Given the description of an element on the screen output the (x, y) to click on. 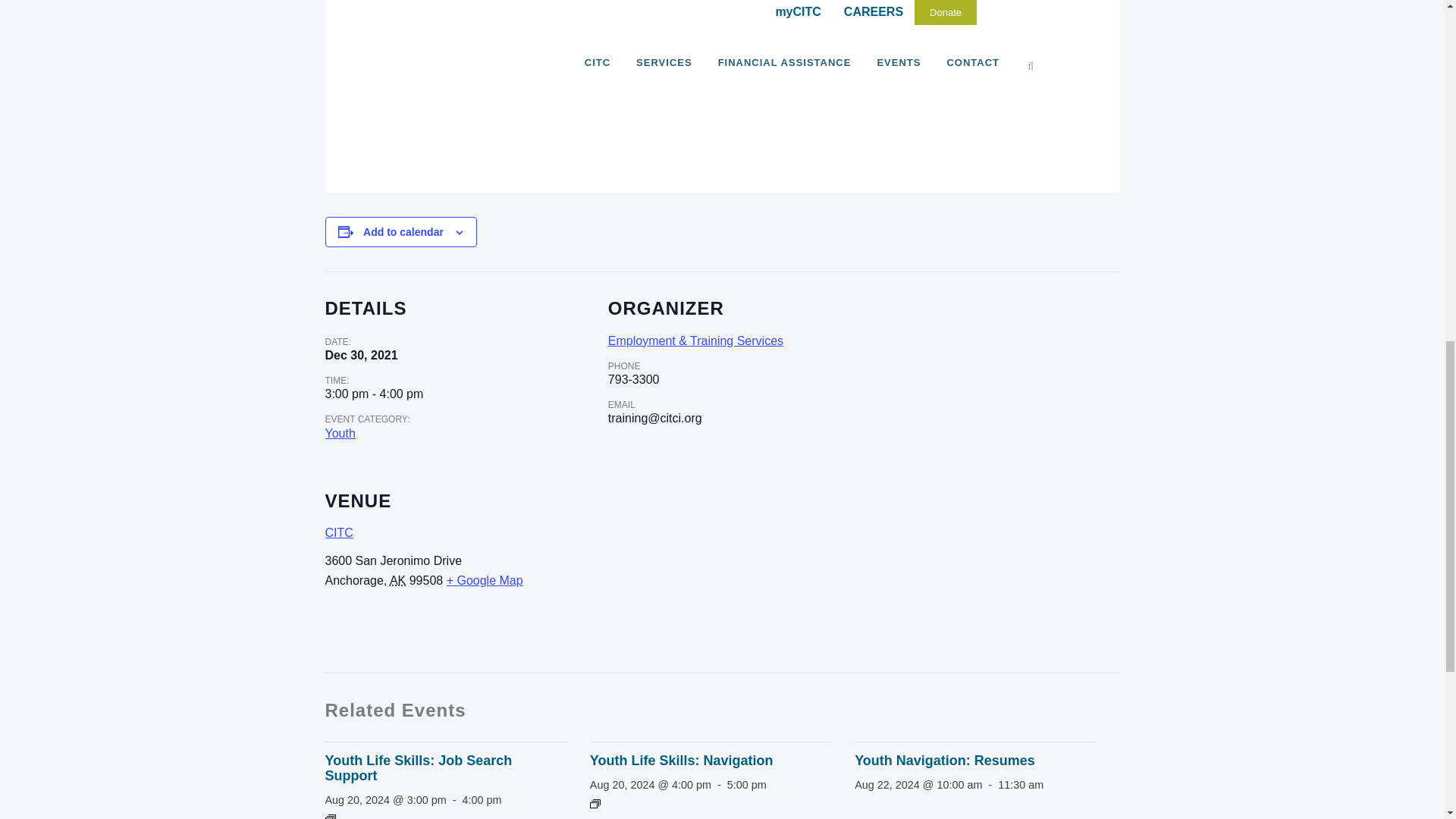
Event Series (329, 816)
Click to view a Google Map (484, 580)
Google maps iframe displaying the address to CITC (873, 568)
2021-12-30 (373, 394)
Alaska (398, 580)
2021-12-30 (360, 355)
